Given the description of an element on the screen output the (x, y) to click on. 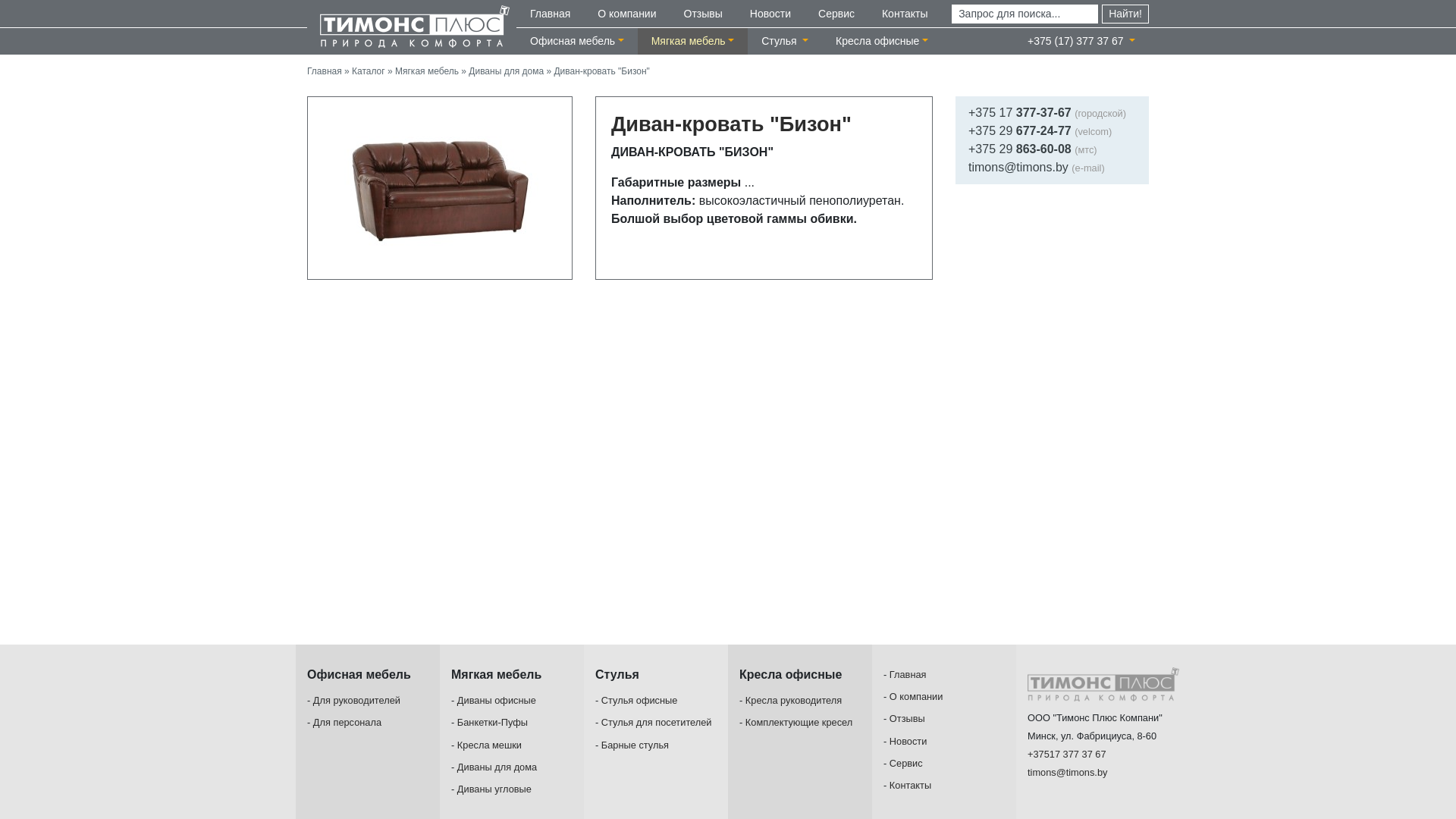
+375 29 677-24-77 (velcom) Element type: text (1039, 130)
+37517 377 37 67 Element type: text (1066, 753)
timons@timons.by (e-mail) Element type: text (1036, 166)
+375 (17) 377 37 67 Element type: text (1080, 41)
timons@timons.by Element type: text (1067, 772)
